Given the description of an element on the screen output the (x, y) to click on. 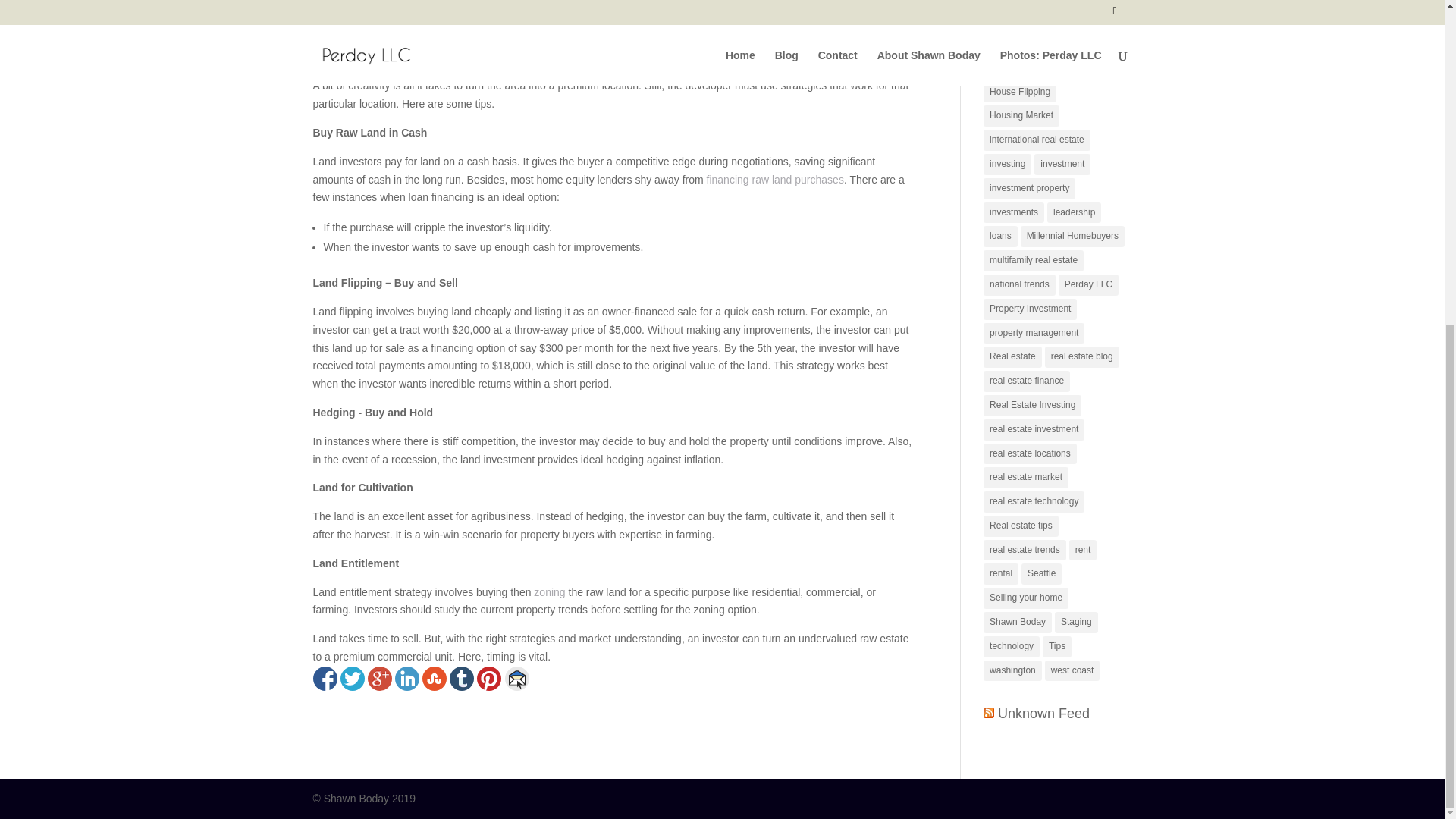
financing raw land purchases (773, 179)
commercial real estate (1035, 2)
zoning (547, 592)
lucrative investment (456, 39)
